Given the description of an element on the screen output the (x, y) to click on. 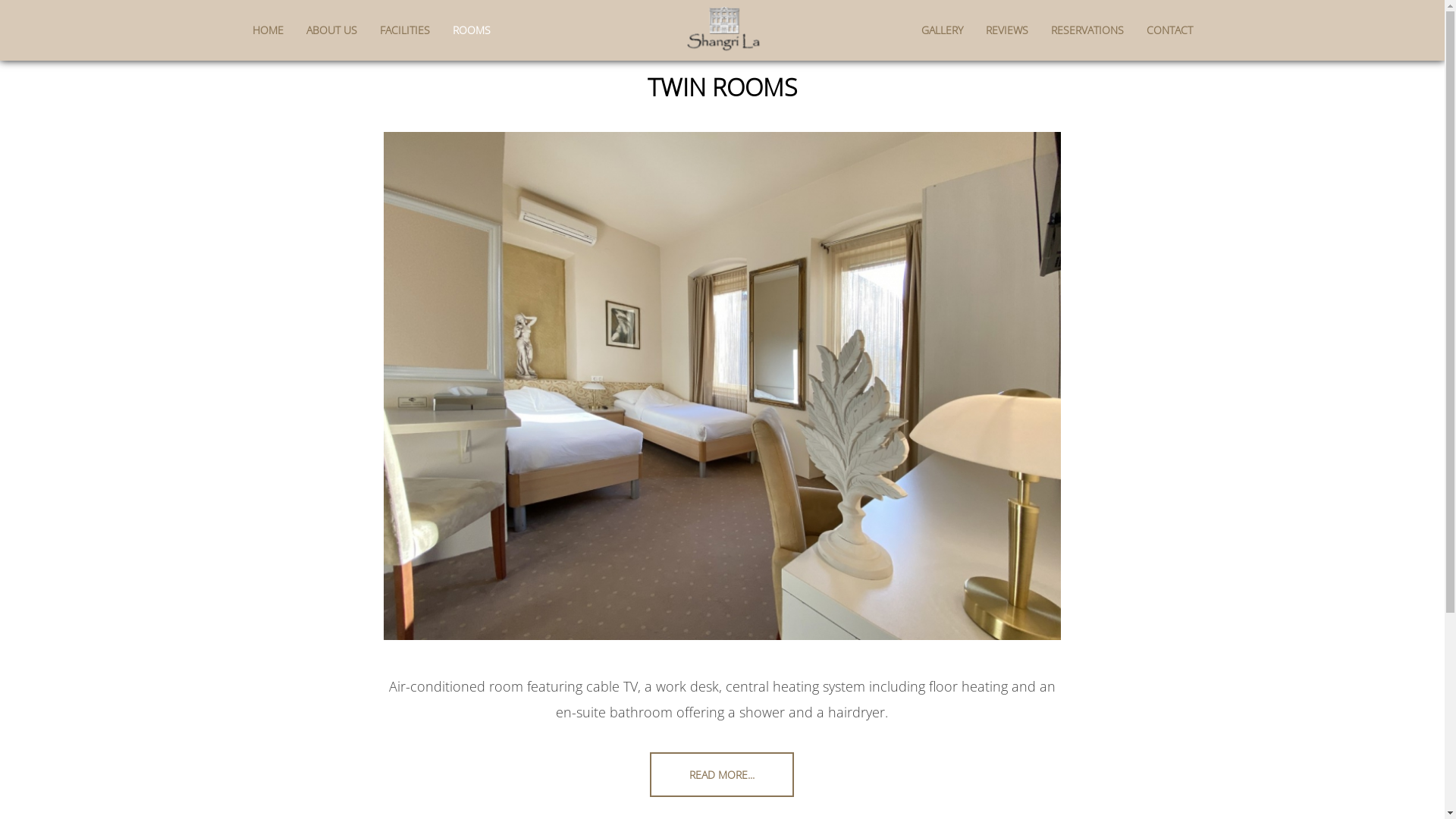
GALLERY Element type: text (946, 30)
REVIEWS Element type: text (1005, 30)
ROOMS Element type: text (465, 30)
CONTACT Element type: text (1163, 30)
TWIN ROOMS Element type: text (722, 86)
Shangri La Element type: text (721, 28)
FACILITIES Element type: text (404, 30)
ABOUT US Element type: text (330, 30)
READ MORE... Element type: text (721, 774)
RESERVATIONS Element type: text (1086, 30)
Twin Room Element type: hover (721, 385)
HOME Element type: text (272, 30)
